Given the description of an element on the screen output the (x, y) to click on. 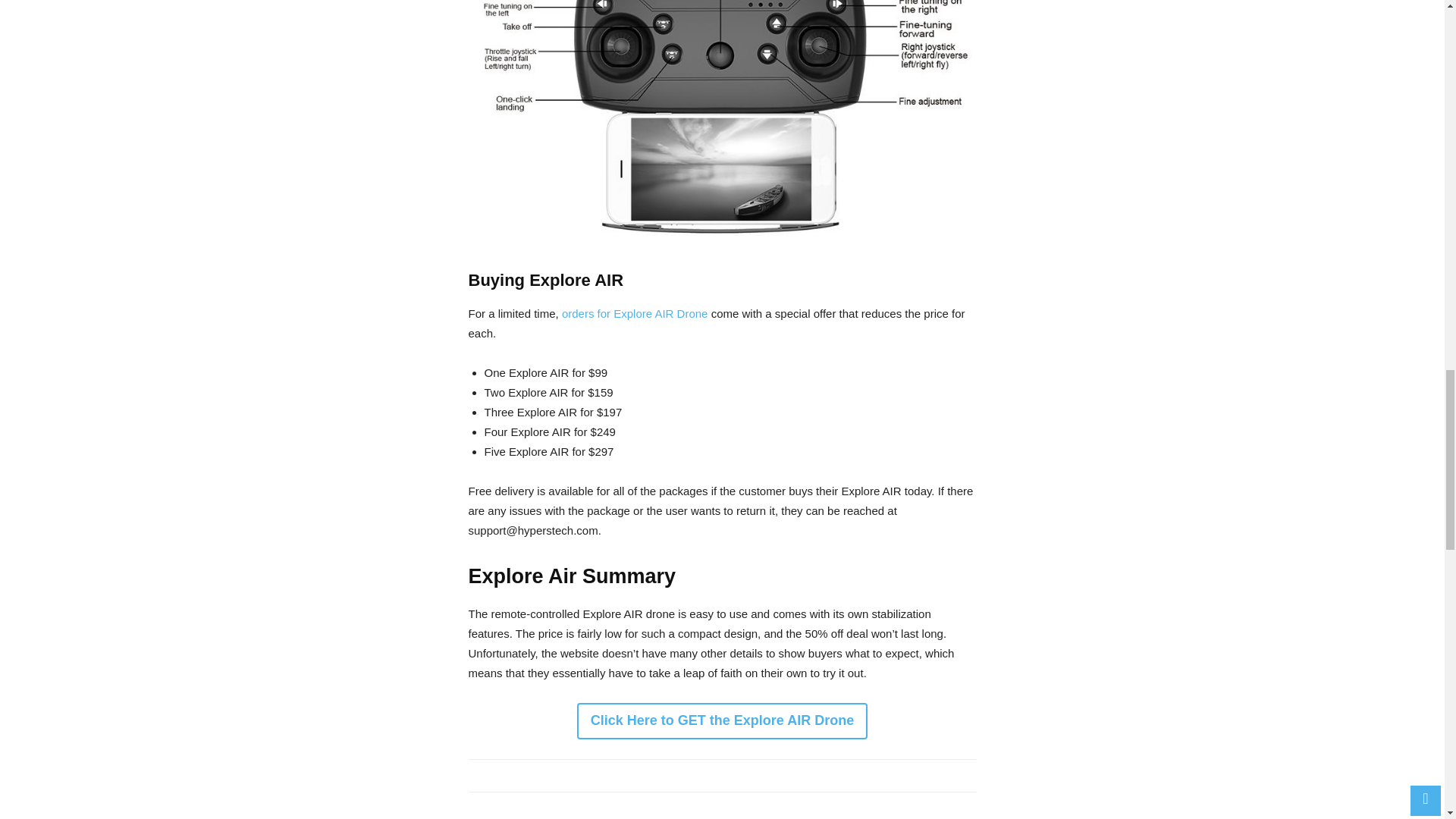
orders for Explore AIR Drone (634, 313)
Click Here to GET the Explore AIR Drone (721, 720)
